Given the description of an element on the screen output the (x, y) to click on. 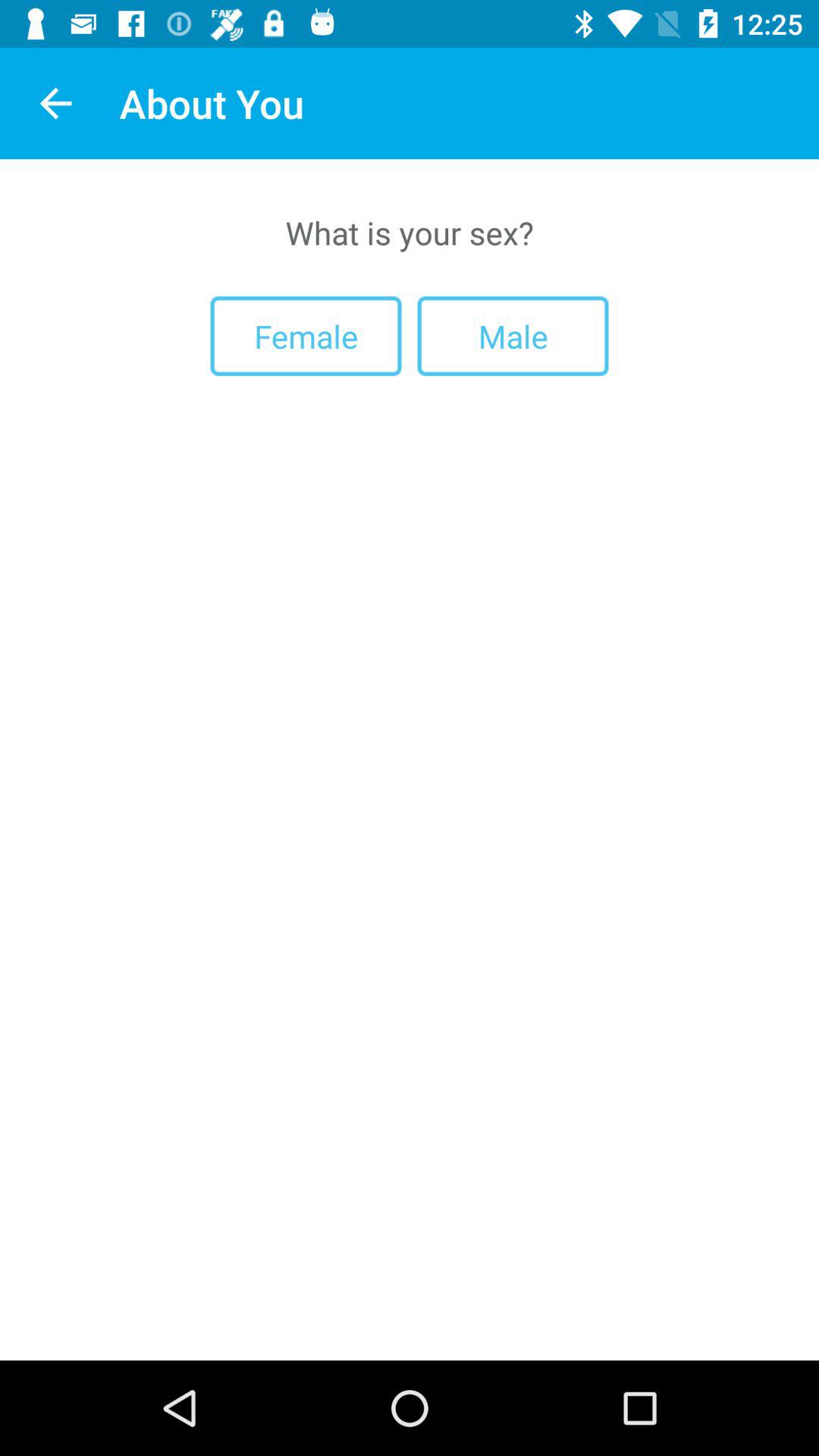
launch icon to the left of the about you app (55, 103)
